Given the description of an element on the screen output the (x, y) to click on. 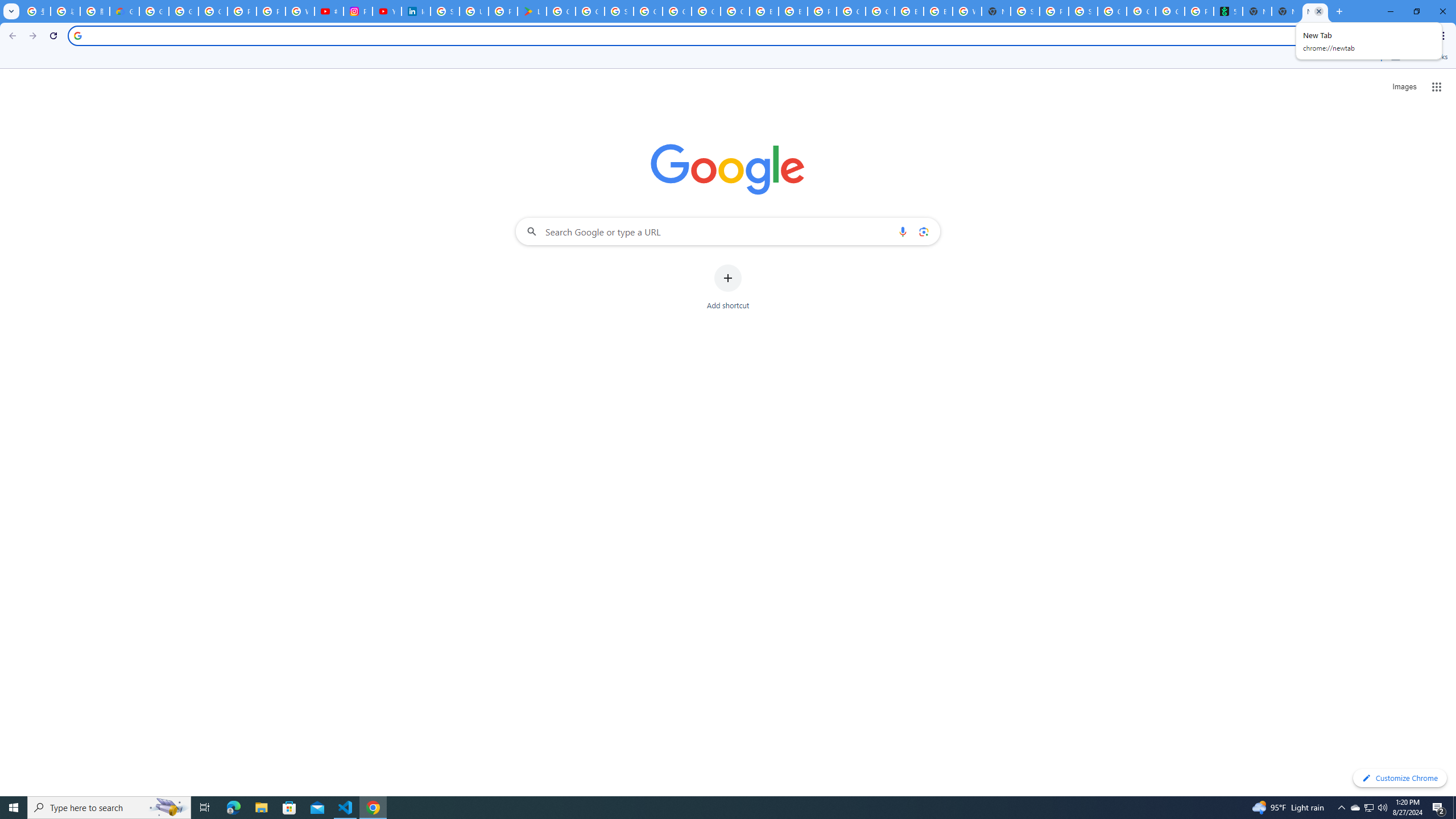
Google Workspace - Specific Terms (590, 11)
Google Cloud Platform (850, 11)
Search by image (922, 230)
Sign in - Google Accounts (1025, 11)
Sign in - Google Accounts (444, 11)
#nbabasketballhighlights - YouTube (327, 11)
